Given the description of an element on the screen output the (x, y) to click on. 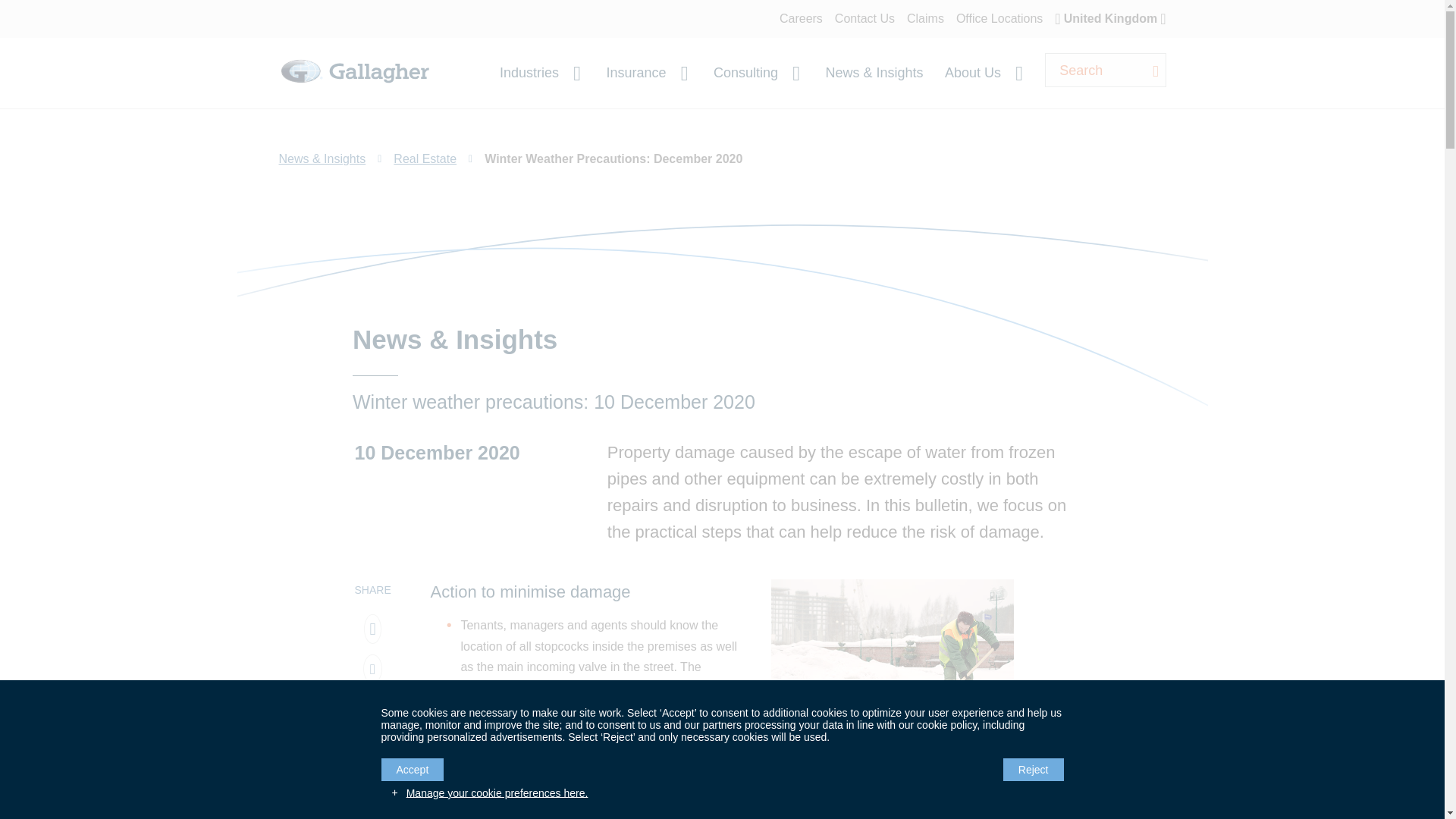
Industries (538, 72)
Office Locations (999, 18)
Gallagher (354, 89)
Contact Us (864, 18)
Careers (800, 18)
Claims (925, 18)
